Given the description of an element on the screen output the (x, y) to click on. 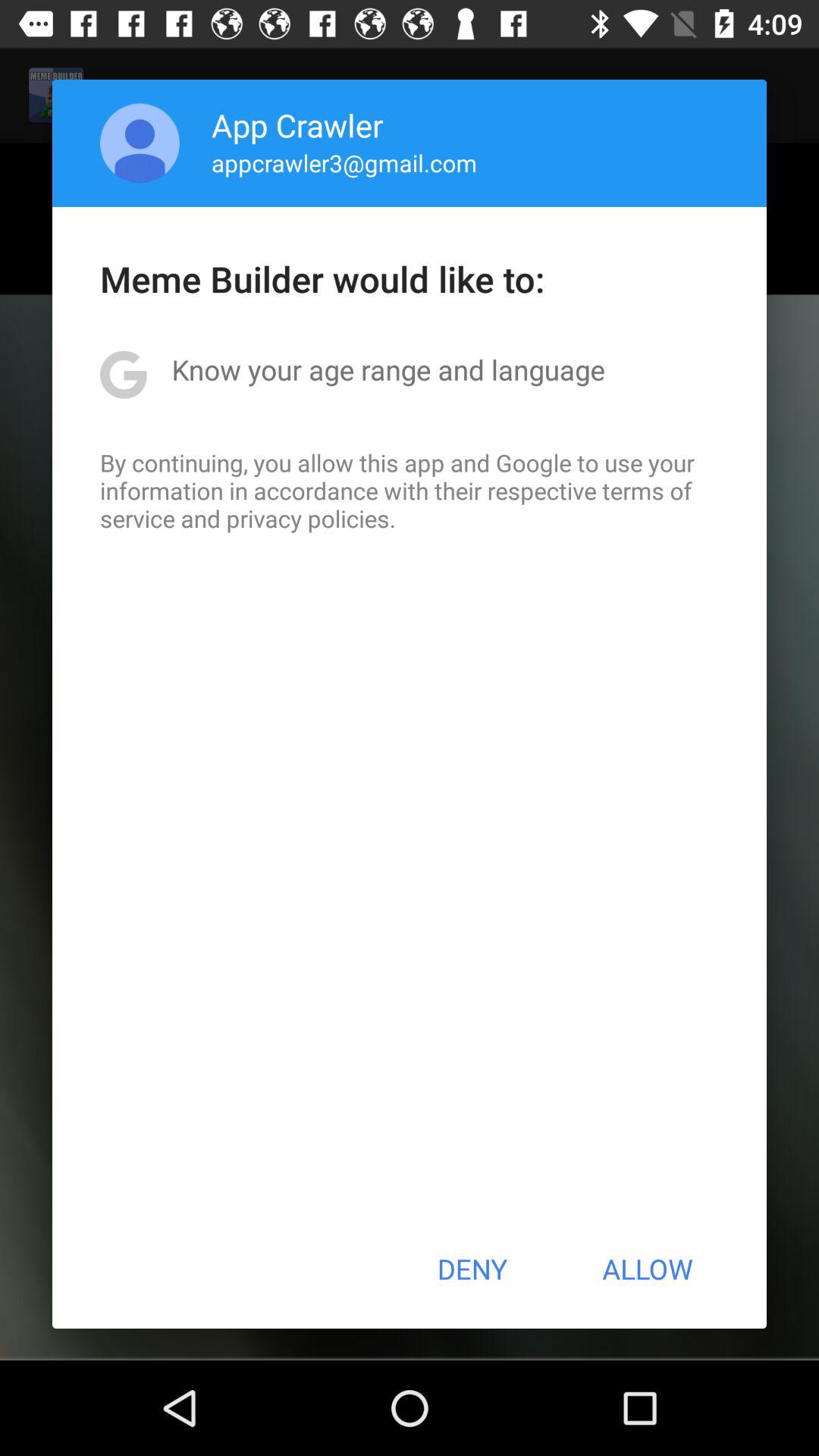
turn on the app to the left of app crawler icon (139, 143)
